Given the description of an element on the screen output the (x, y) to click on. 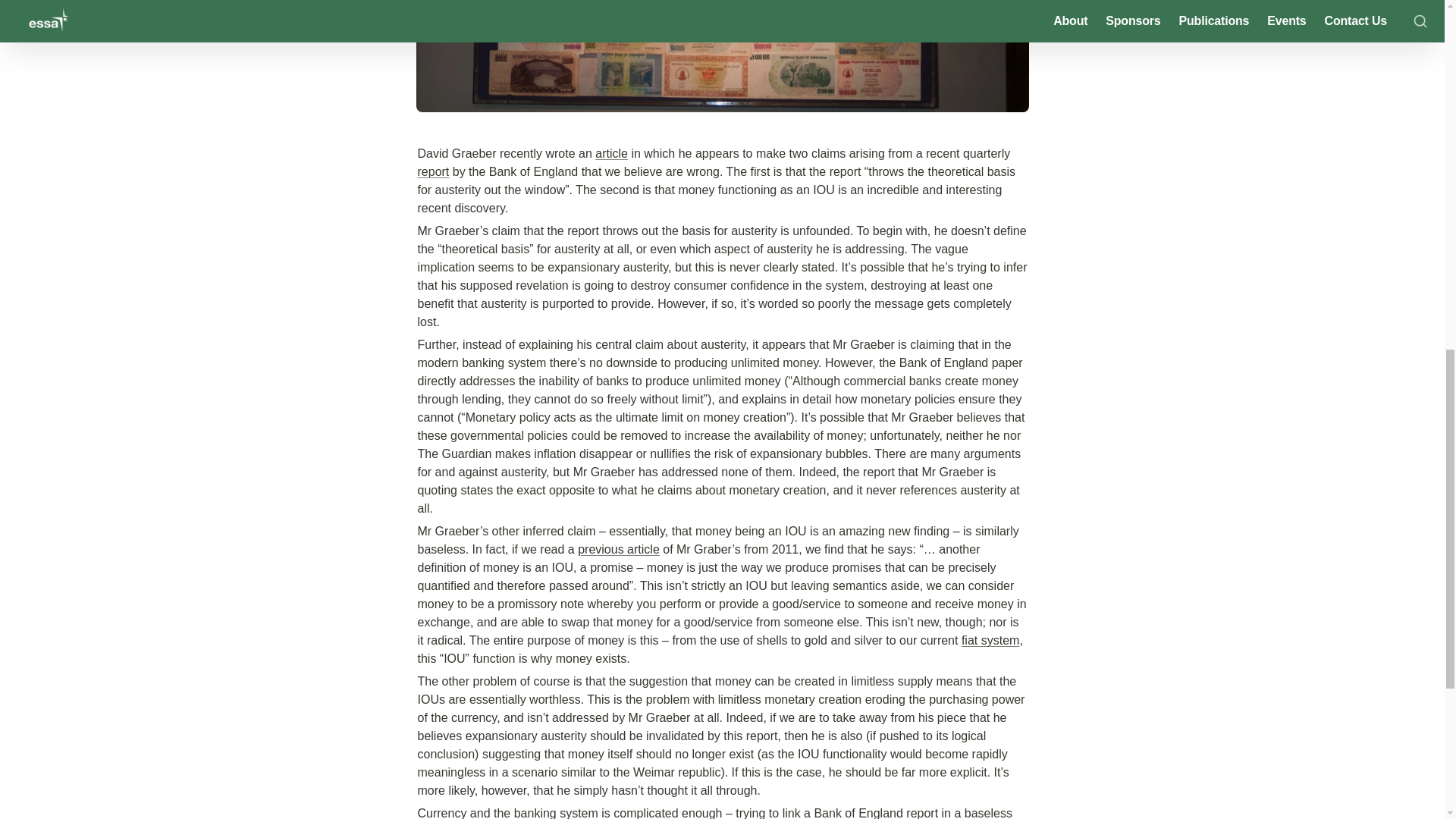
report (432, 171)
article (611, 153)
previous article (618, 549)
fiat system (989, 640)
